Given the description of an element on the screen output the (x, y) to click on. 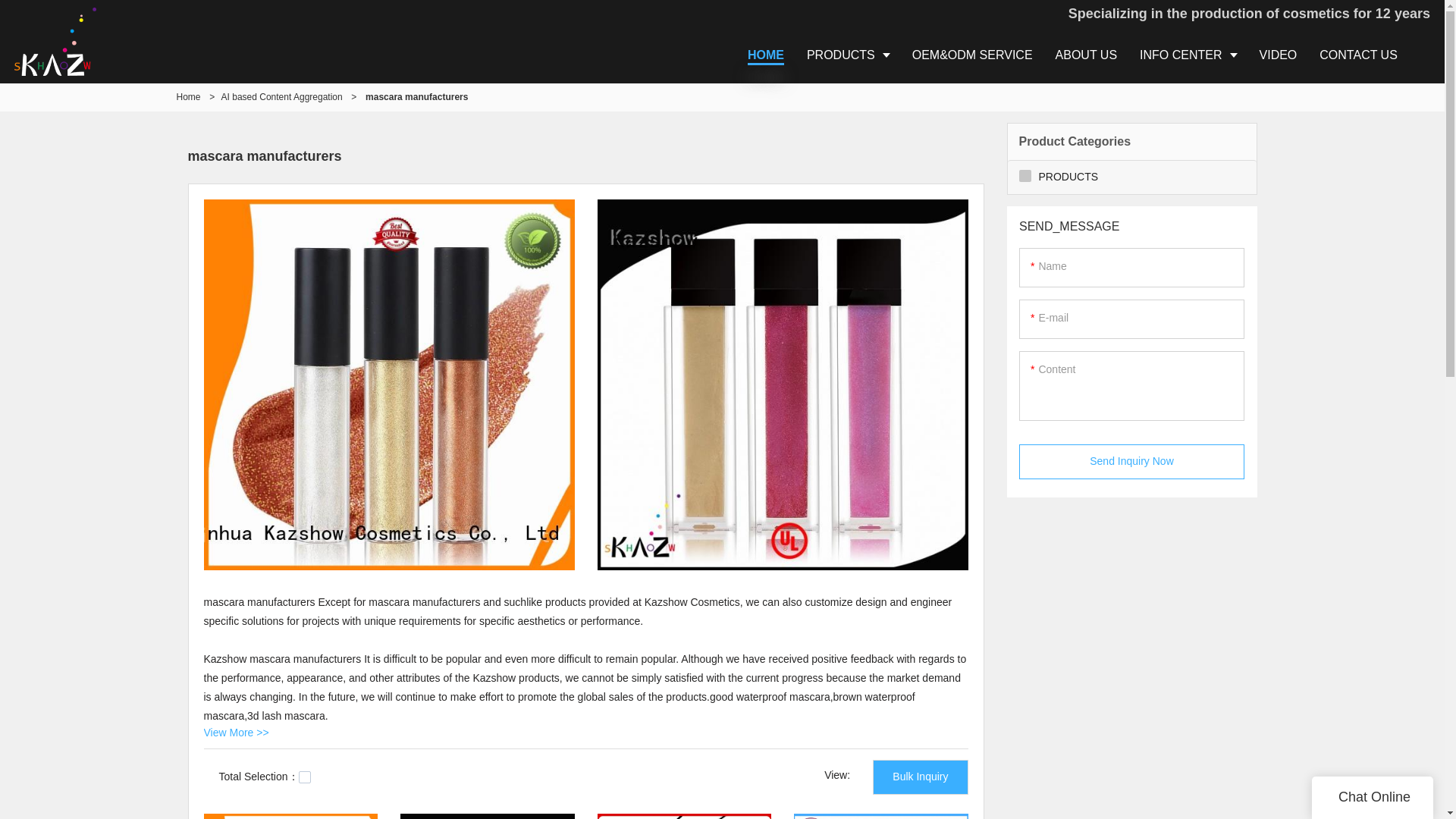
CONTACT US (1358, 55)
INFO CENTER (1187, 55)
VIDEO (1277, 55)
on (304, 776)
ABOUT US (1086, 55)
PRODUCTS (847, 55)
Home (188, 96)
AI based Content Aggregation (281, 96)
HOME (765, 55)
